Given the description of an element on the screen output the (x, y) to click on. 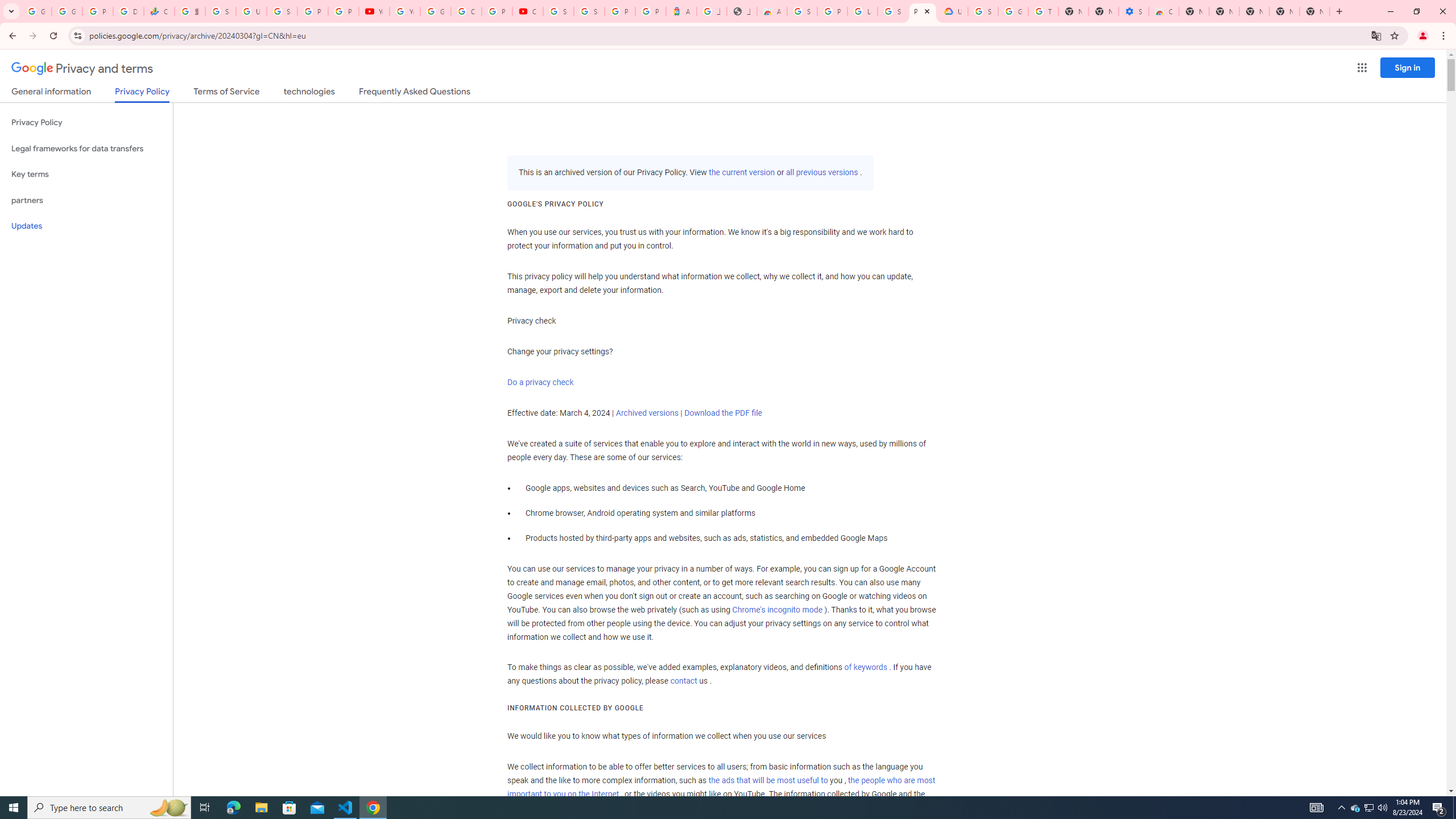
New Tab (1254, 11)
Translate this page (1376, 35)
